Given the description of an element on the screen output the (x, y) to click on. 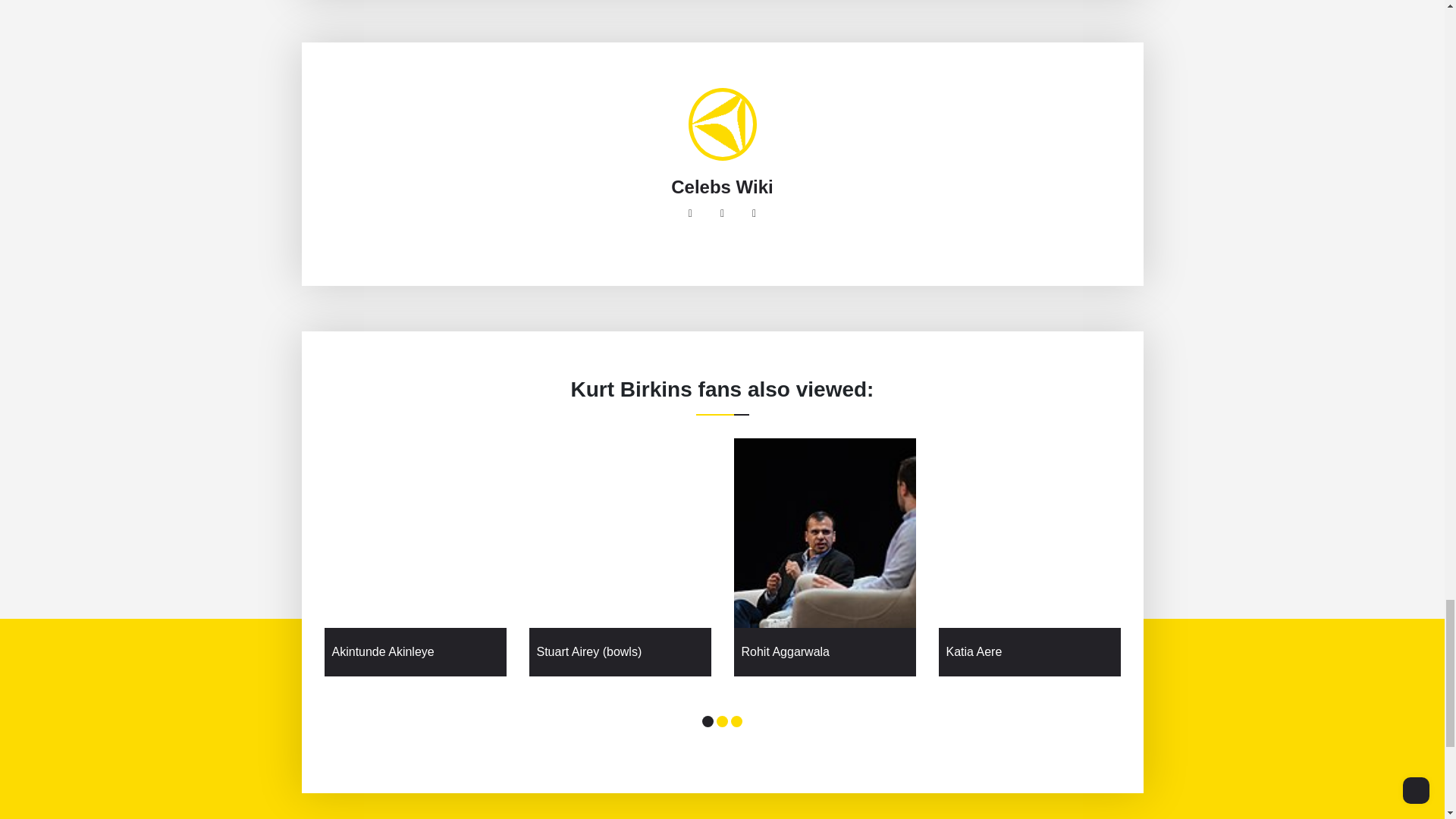
Celebs Wiki (722, 187)
Akintunde Akinleye (415, 651)
Katia Aere (1029, 651)
Rohit Aggarwala (824, 651)
